Given the description of an element on the screen output the (x, y) to click on. 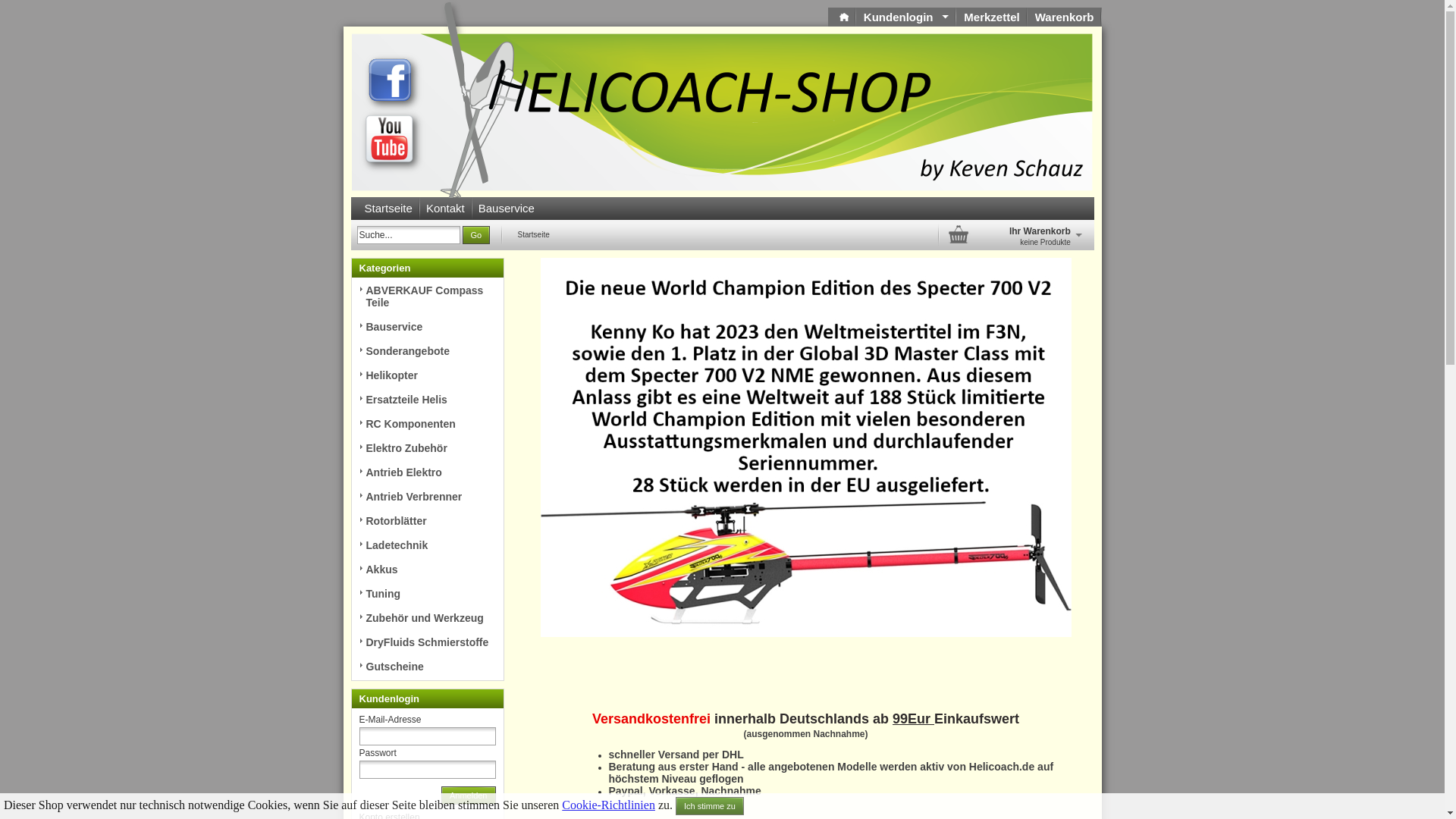
DryFluids Schmierstoffe Element type: text (426, 642)
Kontakt Element type: text (445, 208)
Sonderangebote Element type: text (406, 351)
Go Element type: text (476, 234)
Gutscheine Element type: hover (361, 662)
Helikopter Element type: text (391, 375)
     Element type: text (841, 16)
Ladetechnik Element type: hover (361, 541)
Akkus Element type: hover (361, 565)
Bauservice Element type: text (393, 326)
Merkzettel Element type: text (990, 16)
Warenkorb Element type: text (1063, 16)
Gutscheine Element type: text (394, 666)
ABVERKAUF Compass Teile Element type: hover (361, 286)
Ersatzteile Helis Element type: hover (361, 395)
Startseite Element type: text (387, 208)
ABVERKAUF Compass Teile Element type: text (424, 296)
Antrieb Elektro Element type: text (403, 472)
DryFluids Schmierstoffe Element type: hover (361, 638)
Sonderangebote Element type: hover (361, 346)
Startseite Element type: text (533, 234)
Antrieb Elektro Element type: hover (361, 468)
Ersatzteile Helis Element type: text (405, 399)
Anmelden Element type: text (468, 795)
Startseite anzeigen Element type: hover (843, 16)
Antrieb Verbrenner Element type: hover (361, 492)
Antrieb Verbrenner Element type: text (413, 496)
Ich stimme zu Element type: text (709, 806)
RC Komponenten Element type: hover (361, 419)
Startseite anzeigen Element type: hover (842, 16)
Helikopter Element type: hover (361, 371)
Tuning Element type: hover (361, 589)
Bauservice Element type: hover (361, 322)
Tuning Element type: text (382, 593)
Bauservice Element type: text (506, 208)
Akkus Element type: text (381, 569)
Cookie-Richtlinien Element type: text (608, 804)
Kundenlogin      Element type: text (905, 16)
Ladetechnik Element type: text (396, 545)
RC Komponenten Element type: text (410, 423)
